Given the description of an element on the screen output the (x, y) to click on. 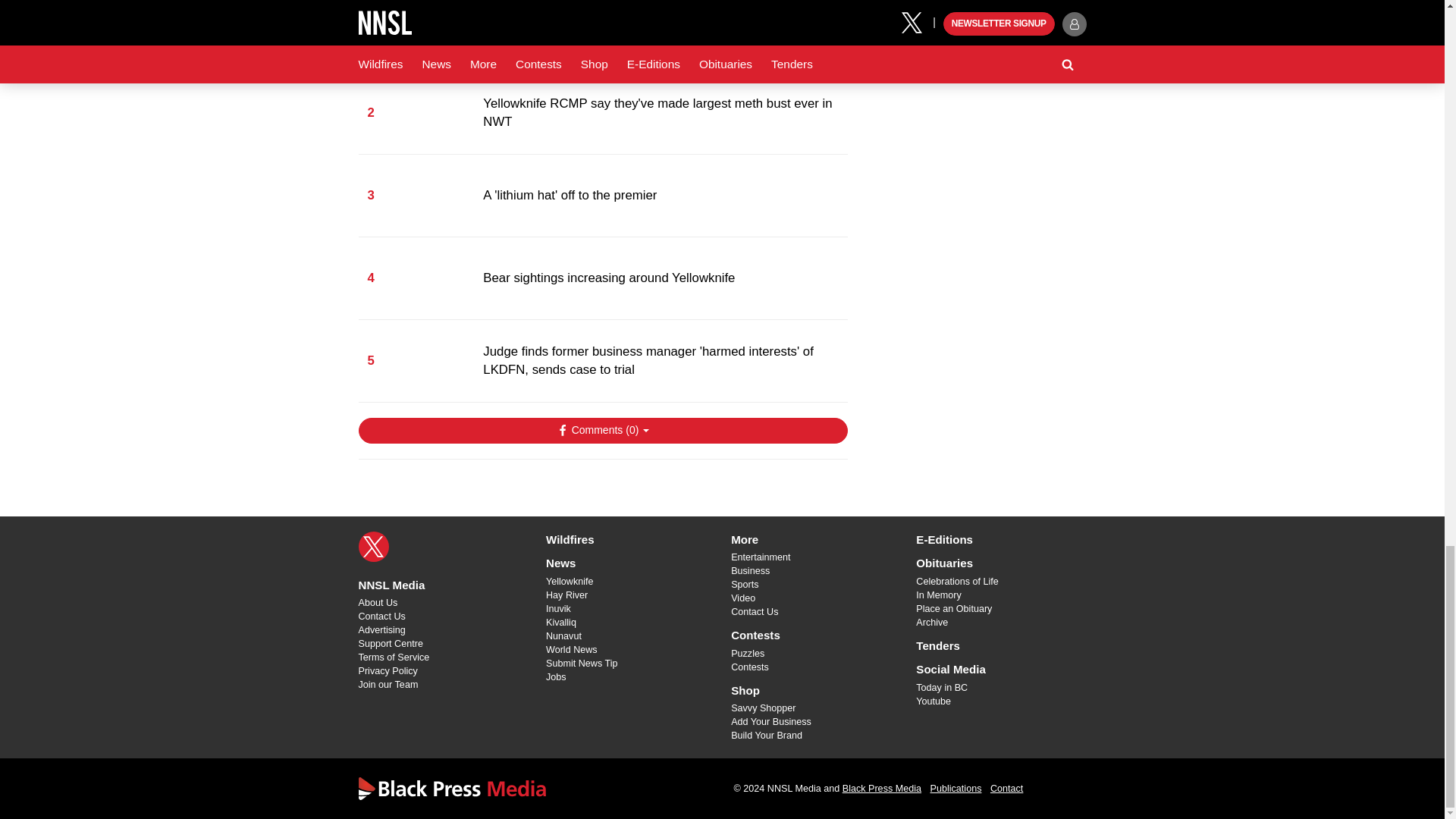
Show Comments (602, 430)
X (373, 546)
